Given the description of an element on the screen output the (x, y) to click on. 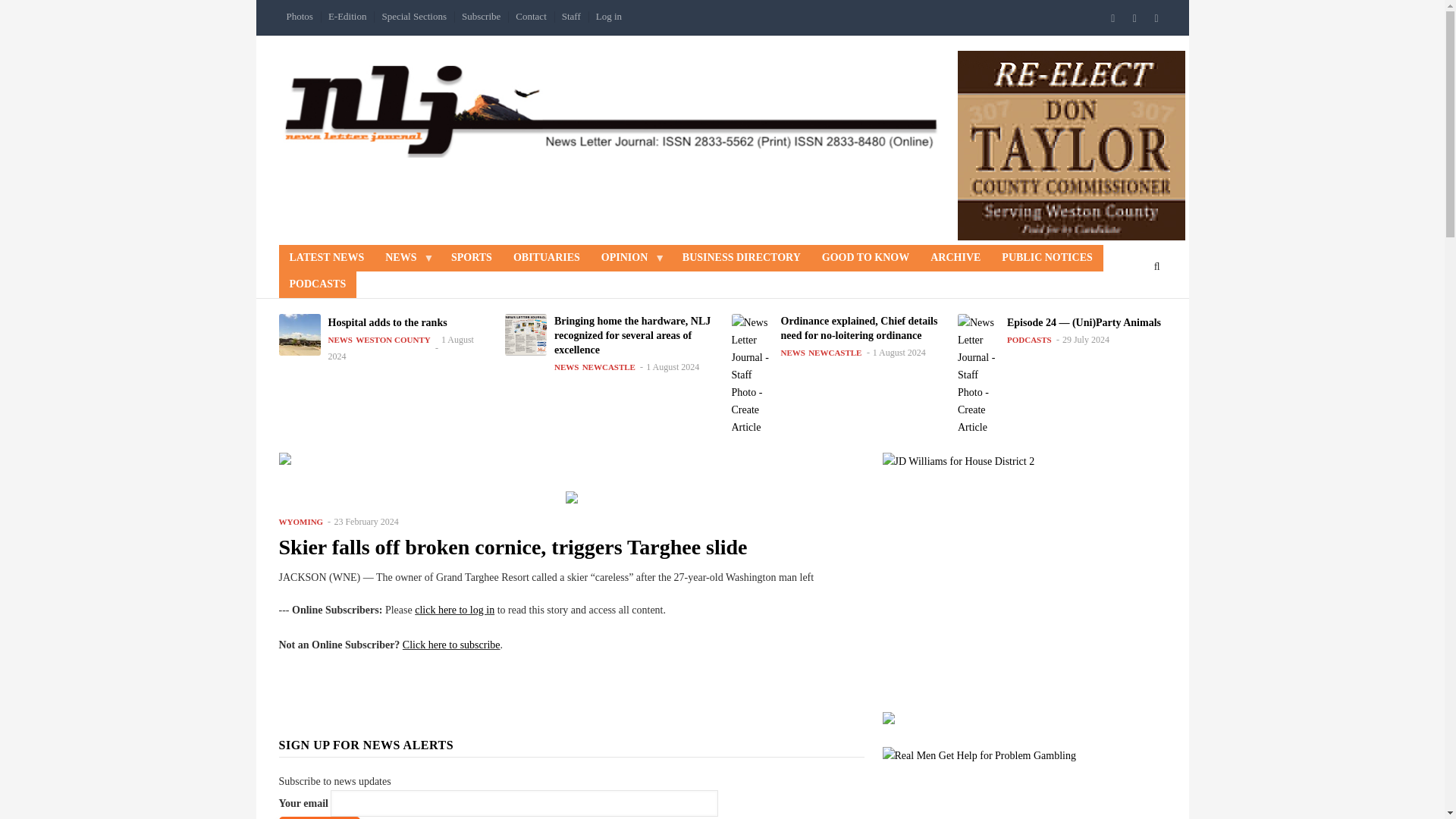
Sports (471, 257)
Podcasts (317, 284)
LATEST NEWS (327, 257)
OBITUARIES (546, 257)
ARCHIVE (955, 257)
Public Notices (1046, 257)
Staff (571, 16)
Good To Know (865, 257)
Re-Elect Don Taylor (1071, 145)
PODCASTS (317, 284)
Contact (530, 16)
Subscribe (319, 817)
News (407, 257)
PUBLIC NOTICES (1046, 257)
